Given the description of an element on the screen output the (x, y) to click on. 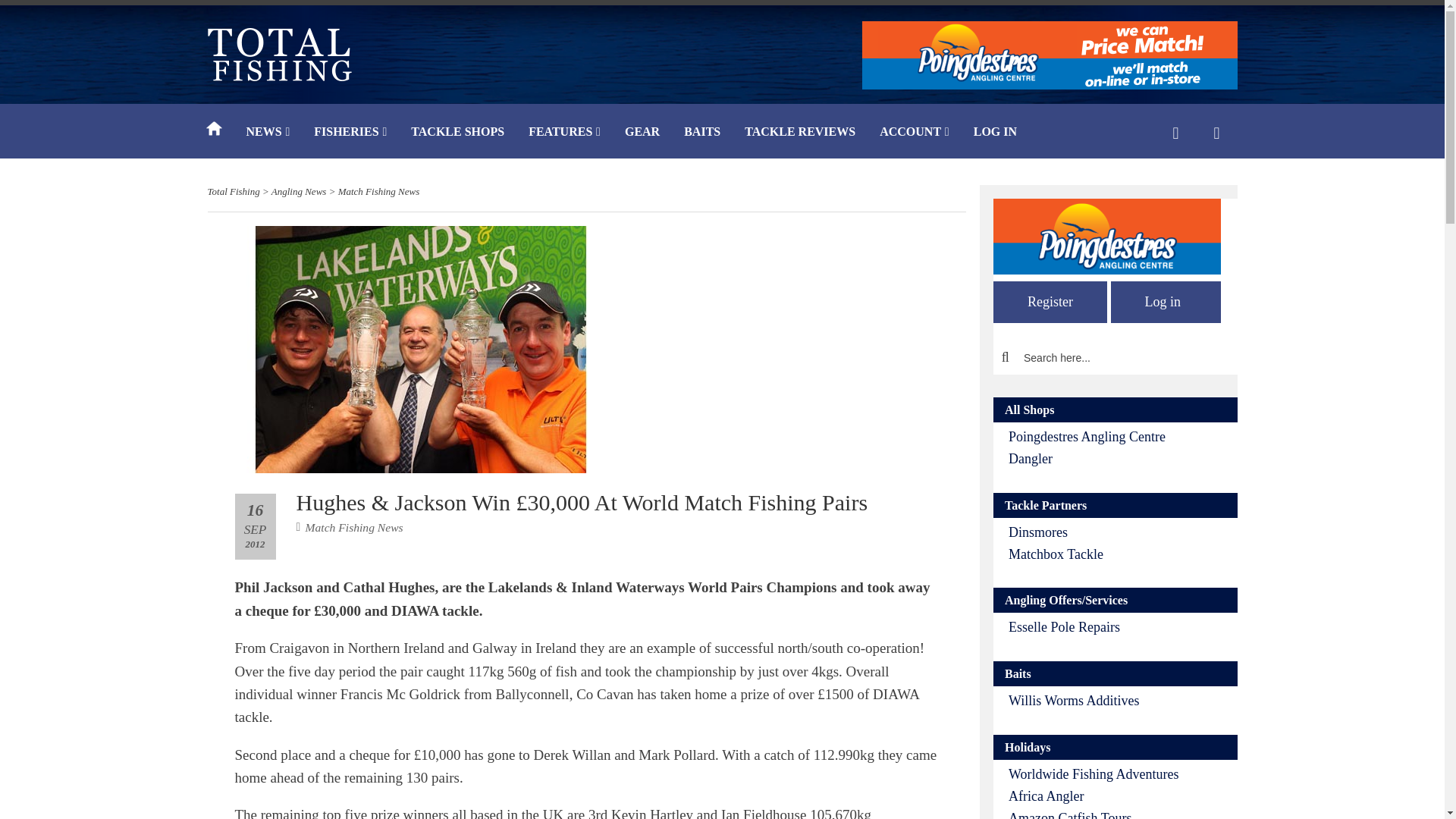
facebook (924, 693)
FEATURES (564, 133)
twitter (992, 693)
TACKLE SHOPS (457, 133)
linkedin (1026, 693)
LOG IN (994, 133)
FISHERIES (349, 133)
Go to Total Fishing. (234, 191)
ACCOUNT (913, 133)
pinterest (958, 693)
TACKLE REVIEWS (799, 133)
Total Fishing (234, 191)
Go to the Match Fishing News Category archives. (378, 191)
Go to the Angling News Category archives. (298, 191)
BAITS (701, 133)
